Given the description of an element on the screen output the (x, y) to click on. 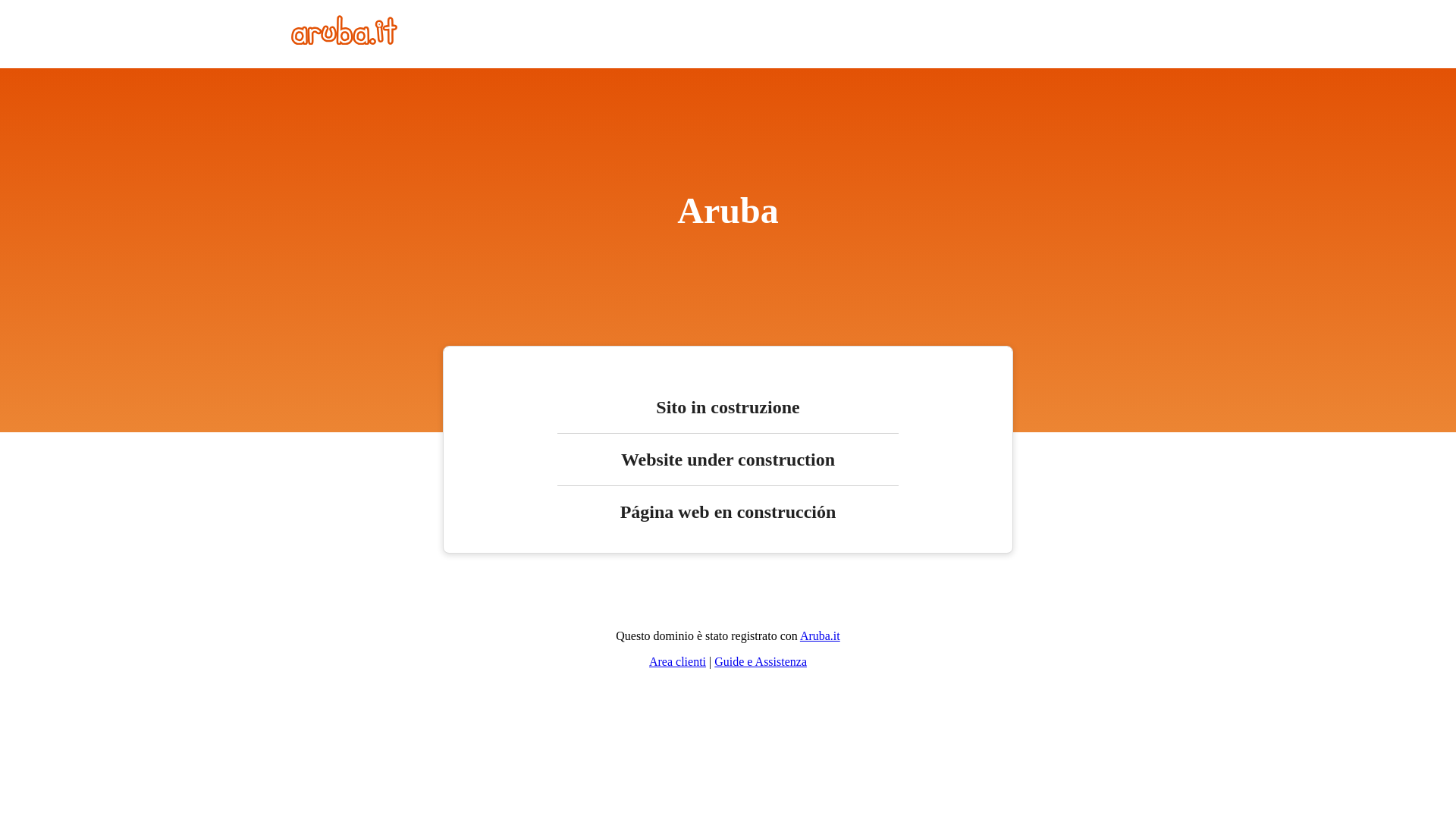
Home Element type: hover (344, 40)
Aruba.it Element type: text (820, 635)
Guide e Assistenza Element type: text (760, 661)
Area clienti Element type: text (677, 661)
